Given the description of an element on the screen output the (x, y) to click on. 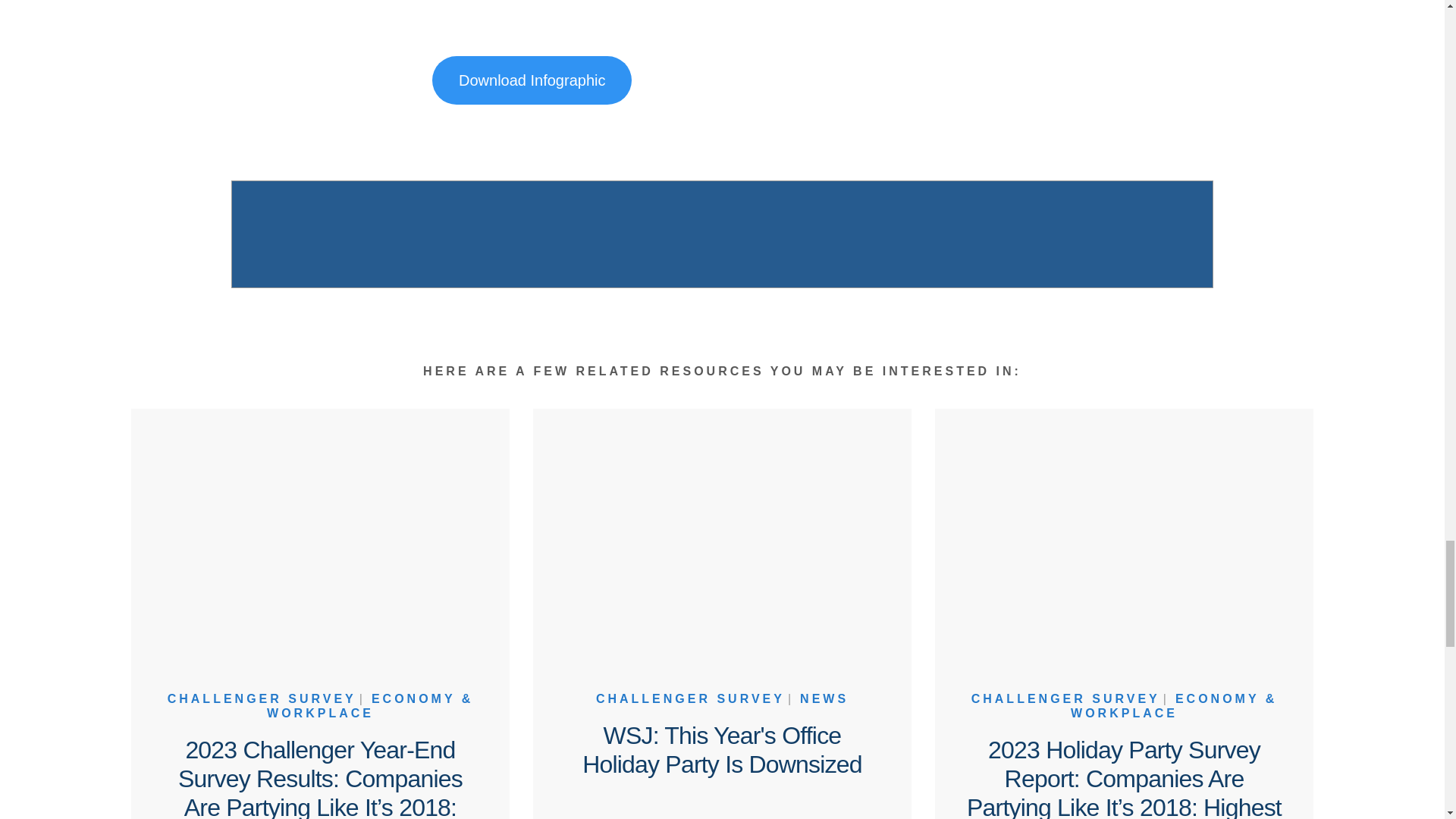
NEWS (823, 698)
WSJ: This Year's Office Holiday Party Is Downsized (721, 749)
CHALLENGER SURVEY (261, 698)
CHALLENGER SURVEY (689, 698)
Download Infographic (531, 80)
